Given the description of an element on the screen output the (x, y) to click on. 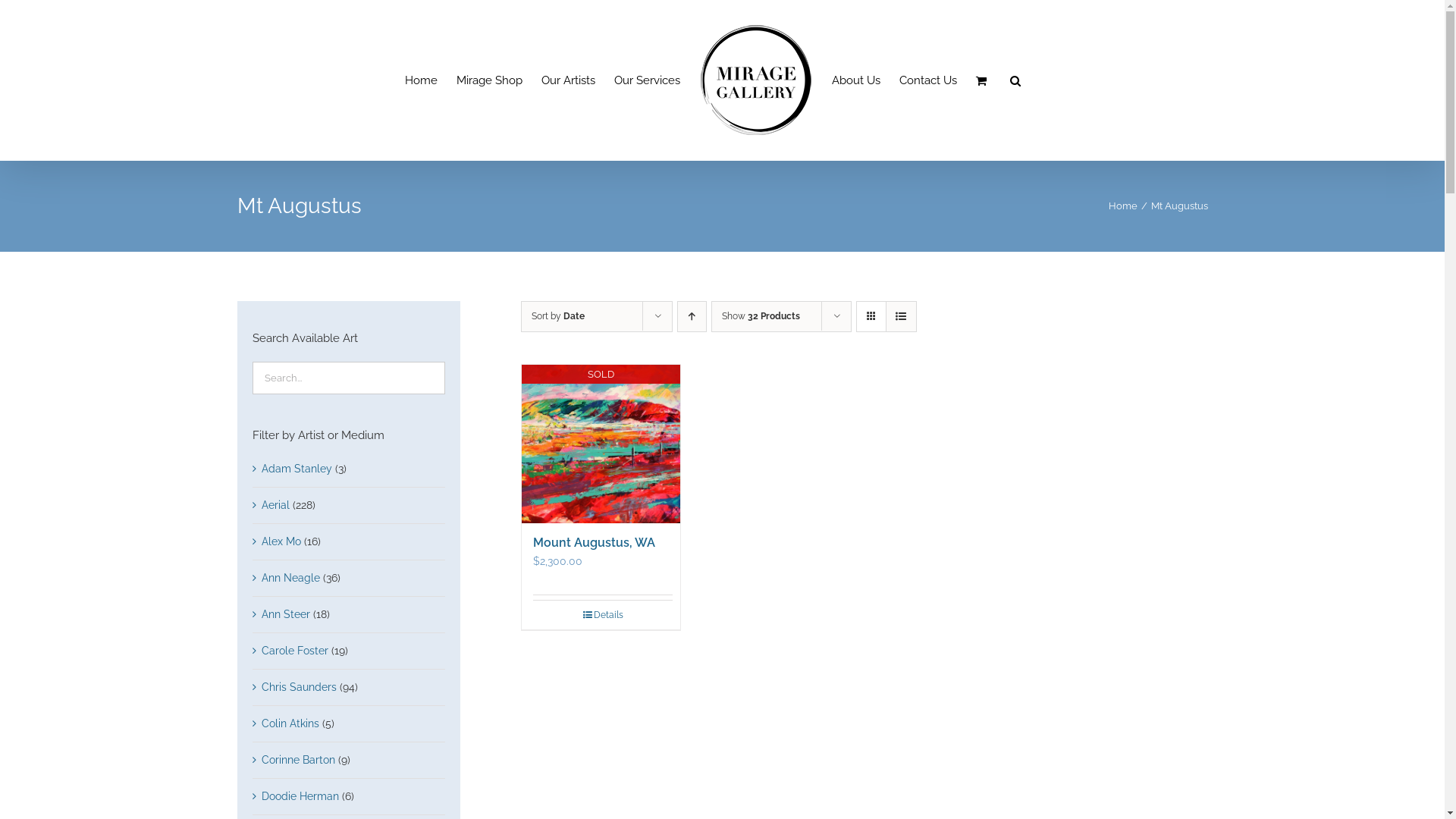
Home Element type: text (420, 80)
Carole Foster Element type: text (293, 650)
Our Services Element type: text (647, 80)
Chris Saunders Element type: text (297, 686)
Home Element type: text (1122, 205)
About Us Element type: text (855, 80)
Sort by Date Element type: text (557, 315)
Ann Steer Element type: text (284, 614)
Mirage Shop Element type: text (489, 80)
SOLD Element type: text (600, 443)
Aerial Element type: text (274, 504)
Search Element type: hover (1015, 80)
Details Element type: text (602, 614)
Show 32 Products Element type: text (760, 315)
Our Artists Element type: text (568, 80)
Contact Us Element type: text (928, 80)
Mount Augustus, WA Element type: text (594, 542)
Doodie Herman Element type: text (299, 796)
Adam Stanley Element type: text (295, 468)
Corinne Barton Element type: text (297, 759)
Alex Mo Element type: text (280, 541)
Colin Atkins Element type: text (289, 723)
Ann Neagle Element type: text (289, 577)
